Given the description of an element on the screen output the (x, y) to click on. 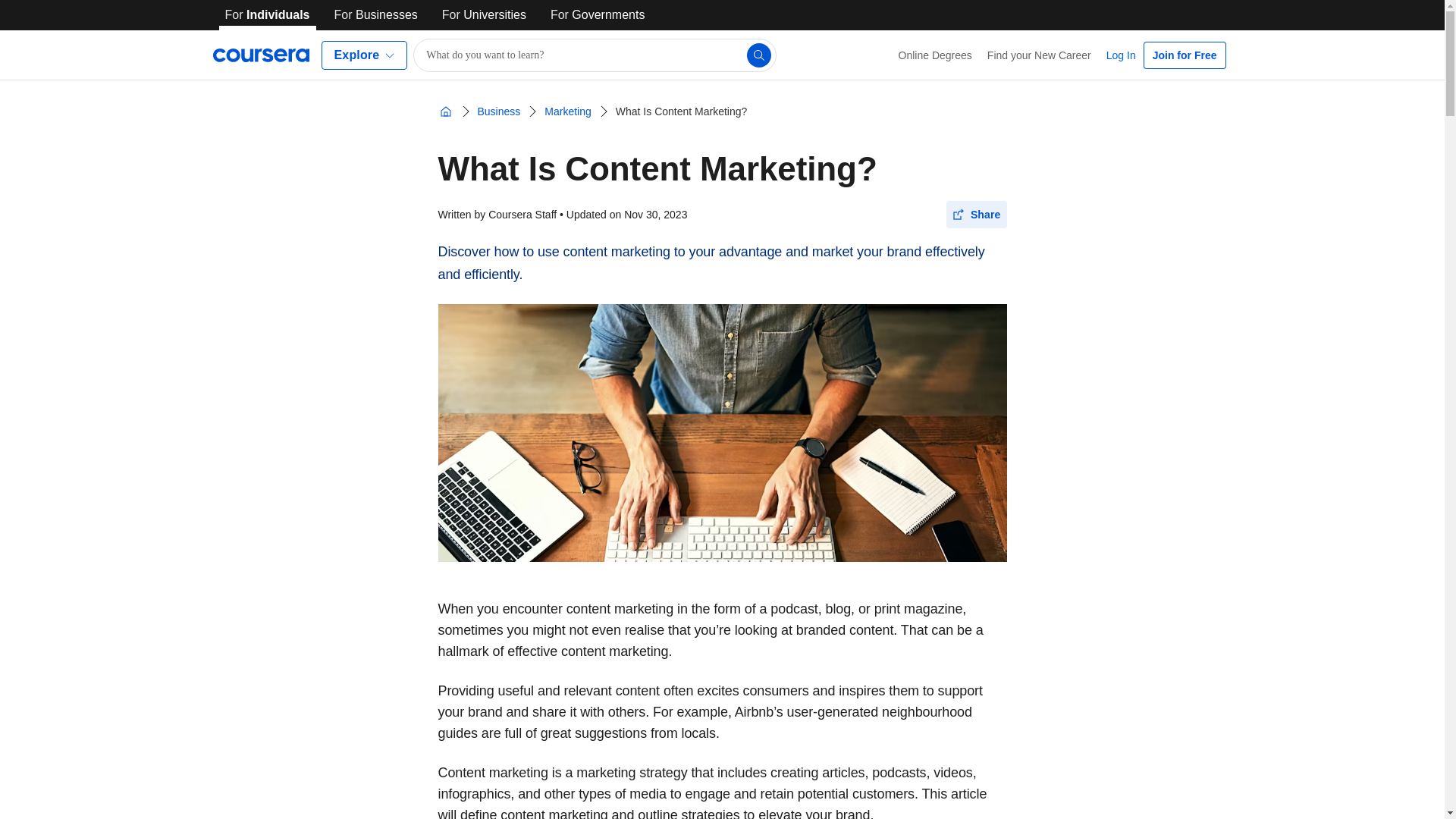
Find your New Career (1039, 54)
Join for Free (1183, 53)
Marketing (567, 111)
What Is Content Marketing? (682, 111)
Online Degrees (935, 54)
Business (499, 111)
For Businesses (376, 15)
Log In (1120, 54)
For Individuals (266, 15)
For Governments (597, 15)
Explore (364, 54)
For Universities (483, 15)
Share (976, 214)
